Given the description of an element on the screen output the (x, y) to click on. 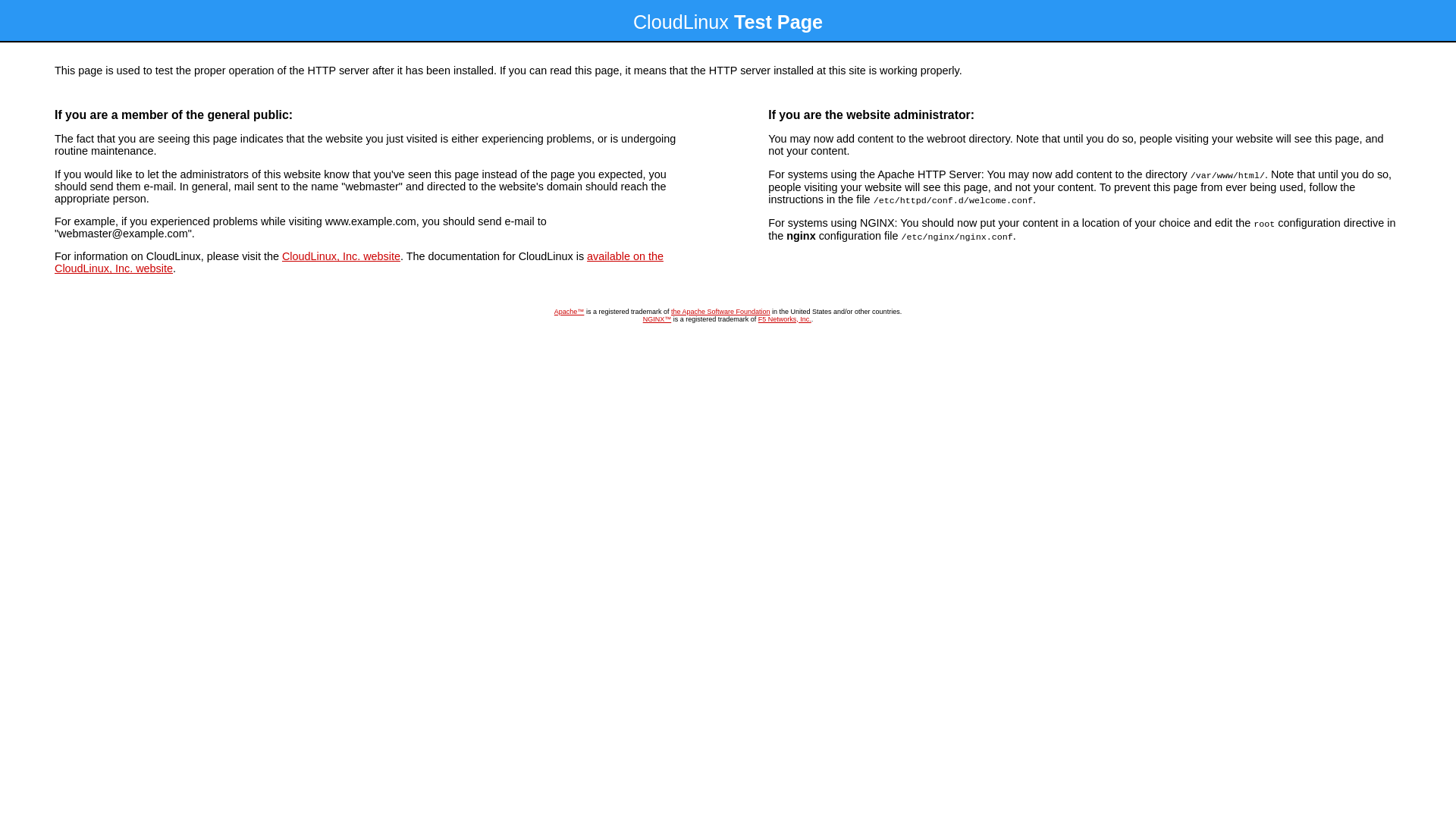
F5 Networks, Inc. Element type: text (784, 319)
the Apache Software Foundation Element type: text (720, 311)
CloudLinux, Inc. website Element type: text (341, 256)
available on the CloudLinux, Inc. website Element type: text (358, 262)
